Given the description of an element on the screen output the (x, y) to click on. 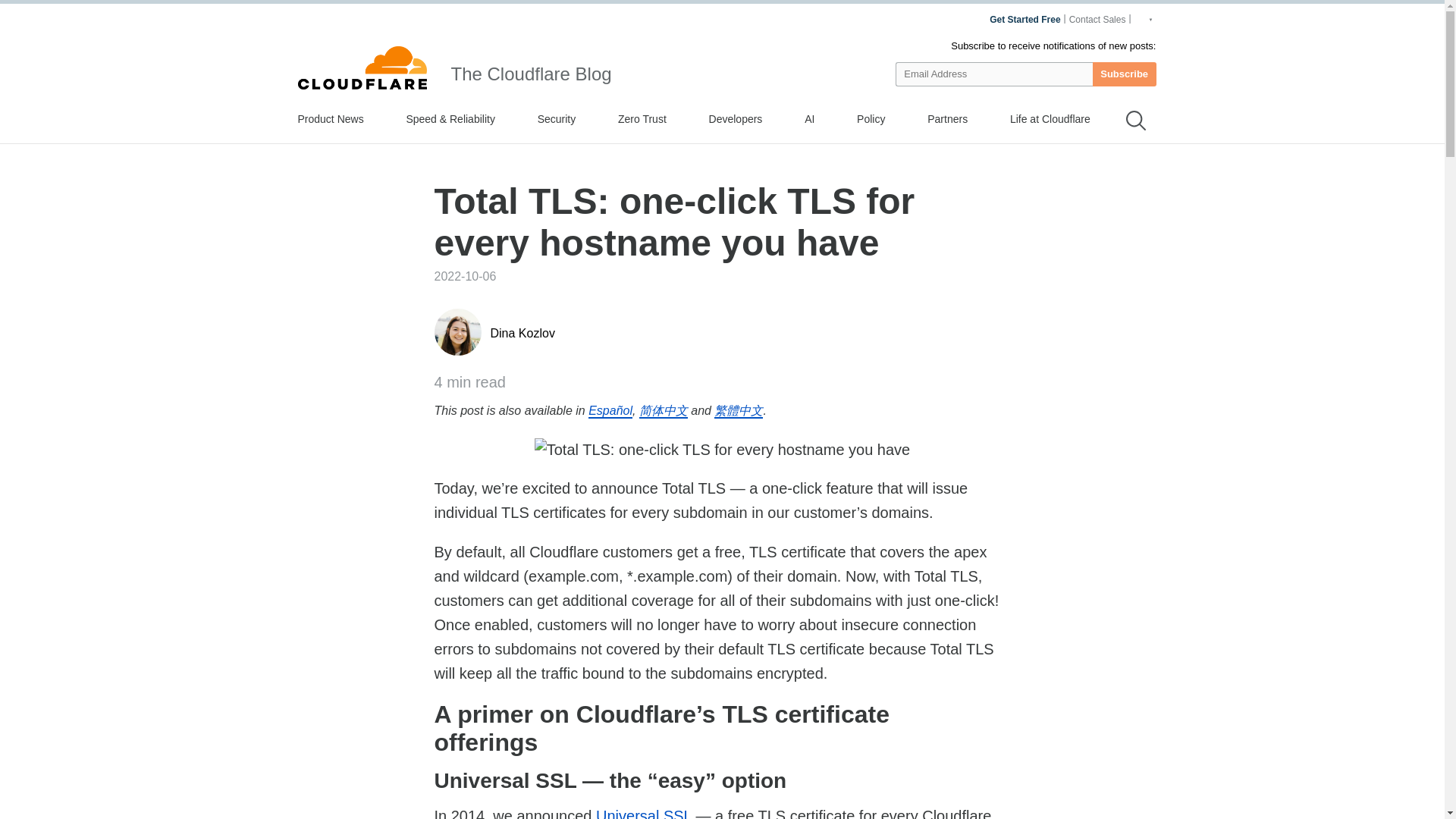
Dina Kozlov (521, 332)
Get Started Free (1024, 19)
Contact Sales (1098, 19)
Life at Cloudflare (1050, 118)
Developers (735, 118)
Subscribe (1124, 74)
Product News (329, 118)
Partners (947, 118)
Universal SSL (643, 813)
The Cloudflare Blog (530, 73)
